Given the description of an element on the screen output the (x, y) to click on. 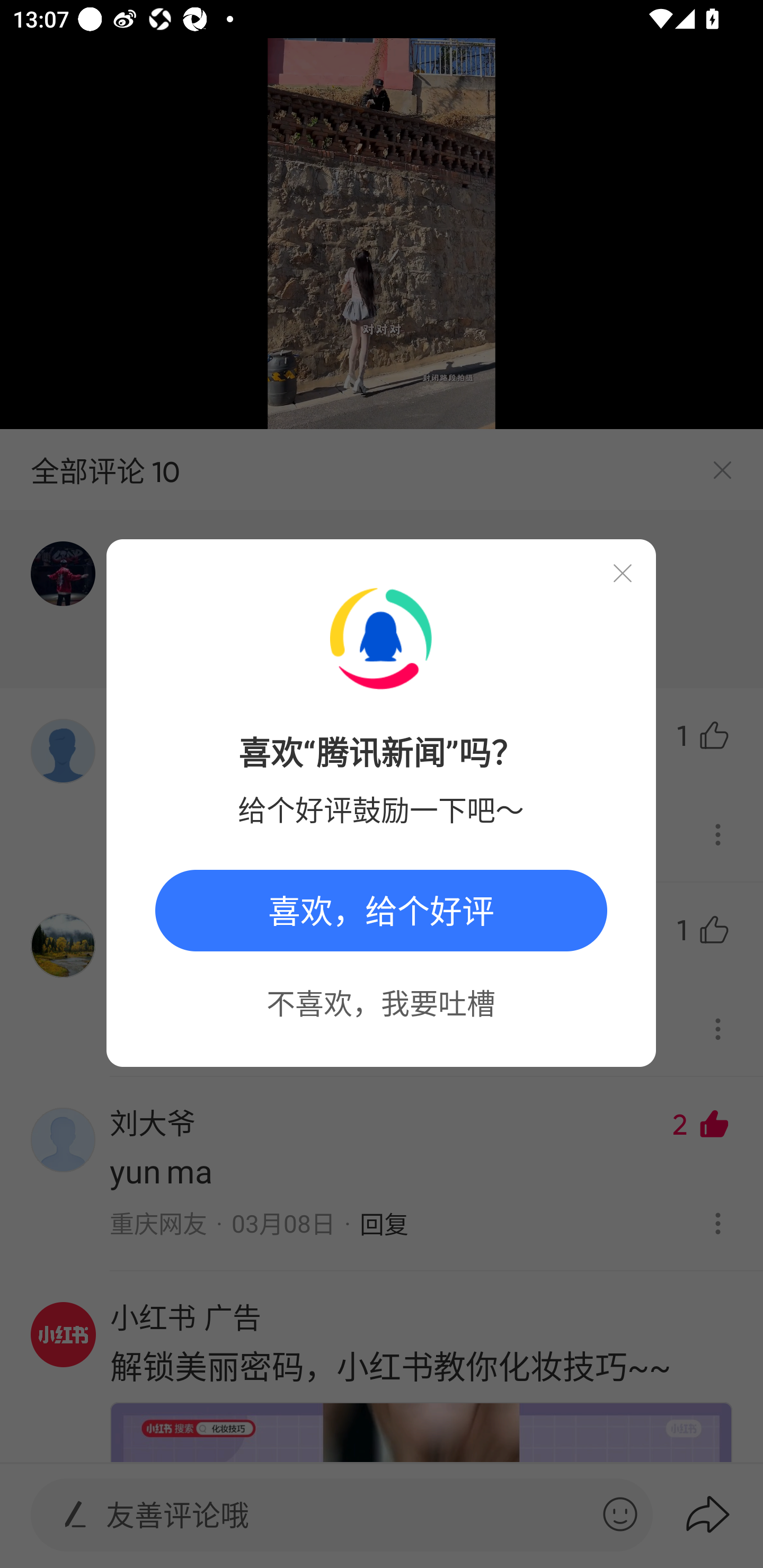
 关闭弹窗 (622, 572)
喜欢，给个好评 (380, 910)
不喜欢，我要吐槽 (380, 1002)
